Given the description of an element on the screen output the (x, y) to click on. 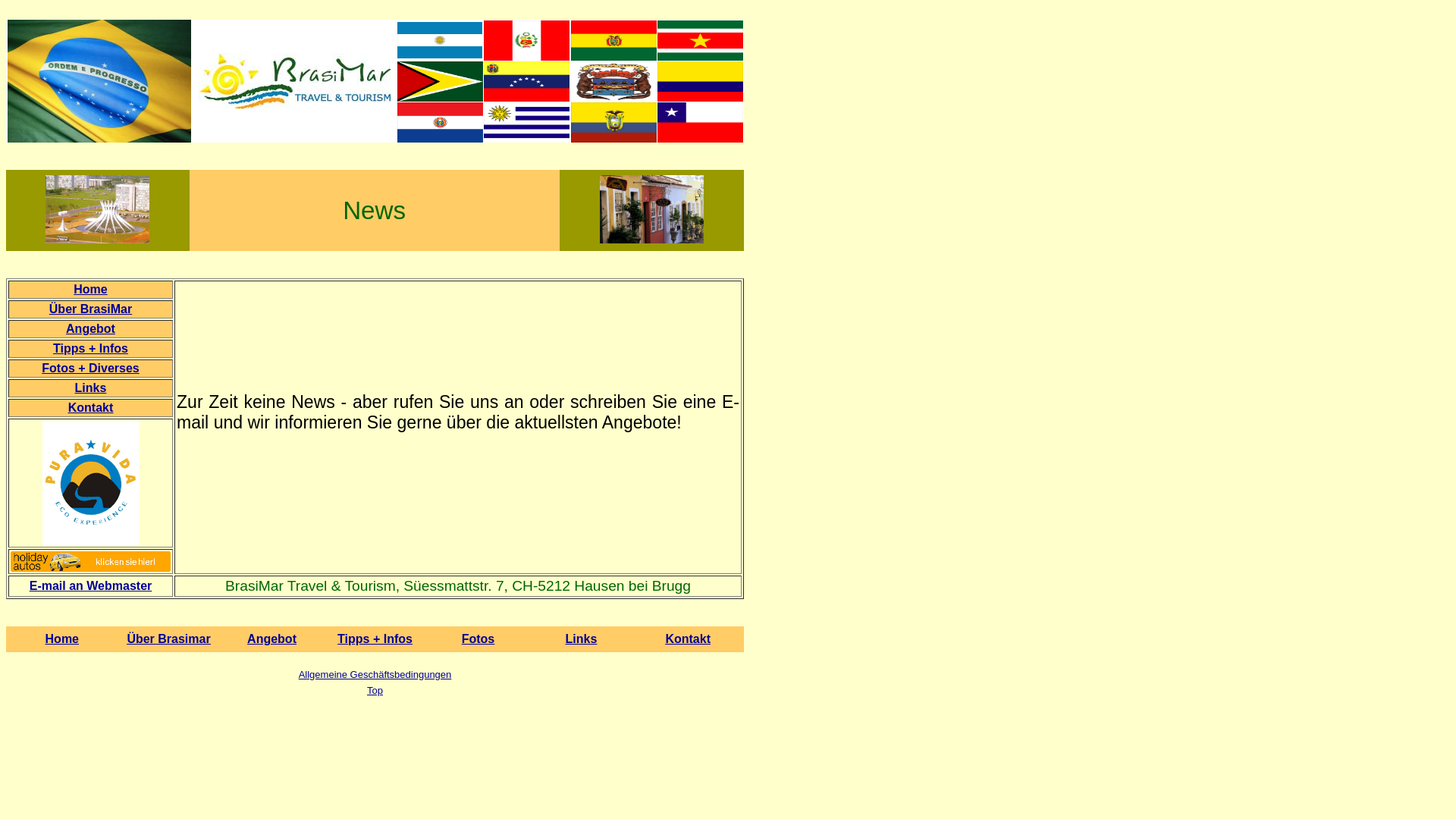
Fotos + Diverses Element type: text (90, 367)
Tipps + Infos Element type: text (90, 348)
Home Element type: text (61, 638)
Tipps + Infos Element type: text (374, 638)
Home Element type: text (89, 288)
Links Element type: text (581, 638)
Fotos Element type: text (478, 638)
Kontakt Element type: text (90, 407)
Kontakt Element type: text (687, 638)
Angebot Element type: text (90, 328)
Links Element type: text (90, 387)
Angebot Element type: text (271, 638)
E-mail an Webmaster Element type: text (90, 585)
Top Element type: text (374, 689)
